Given the description of an element on the screen output the (x, y) to click on. 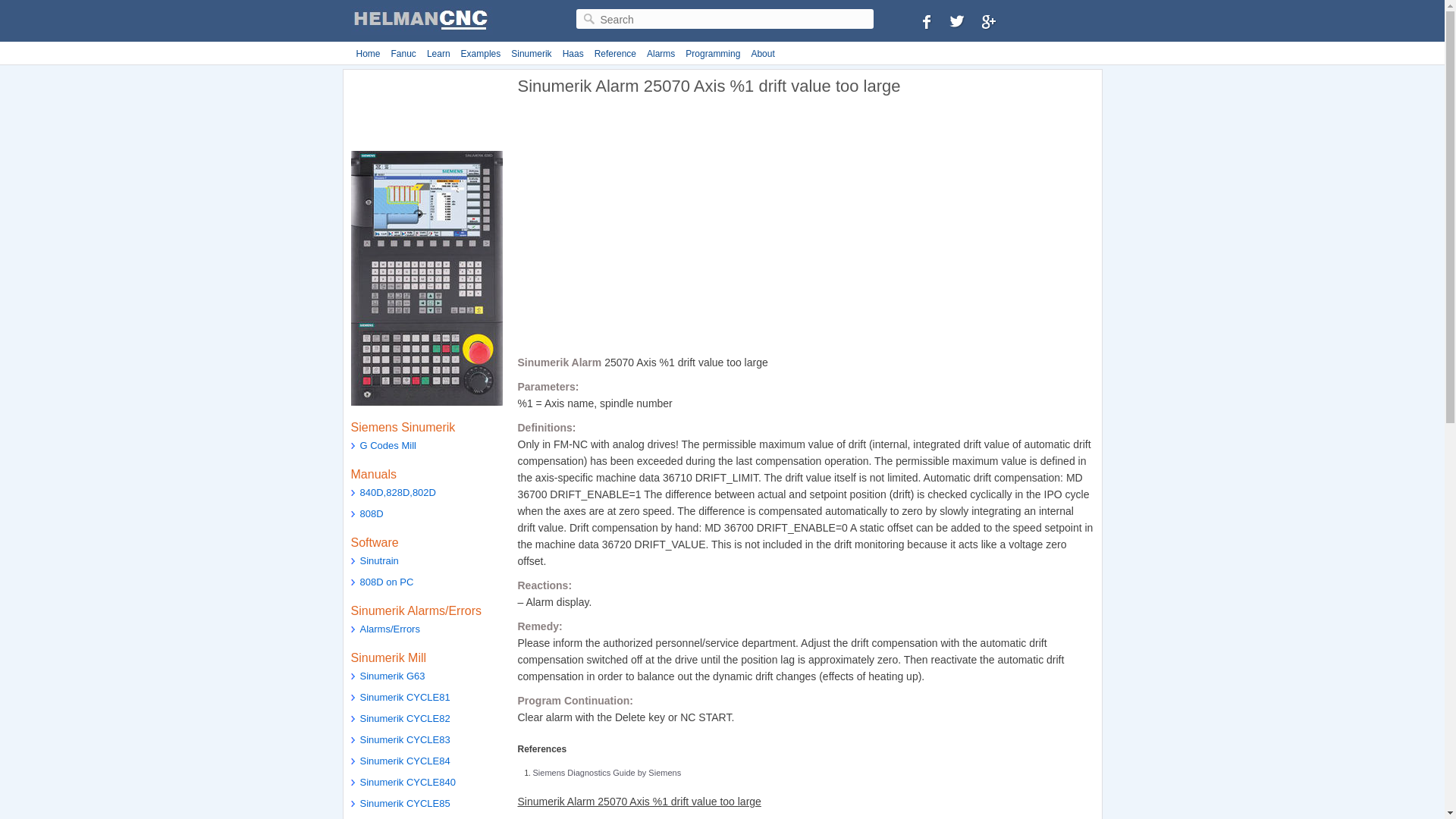
Sinumerik (530, 54)
808D (426, 515)
Learn (438, 54)
Programming (712, 54)
Sinumerik CYCLE84 (426, 762)
Advertisement (426, 110)
808D on PC (426, 583)
Sinumerik CYCLE85 (426, 804)
Advertisement (643, 231)
About (761, 54)
